Given the description of an element on the screen output the (x, y) to click on. 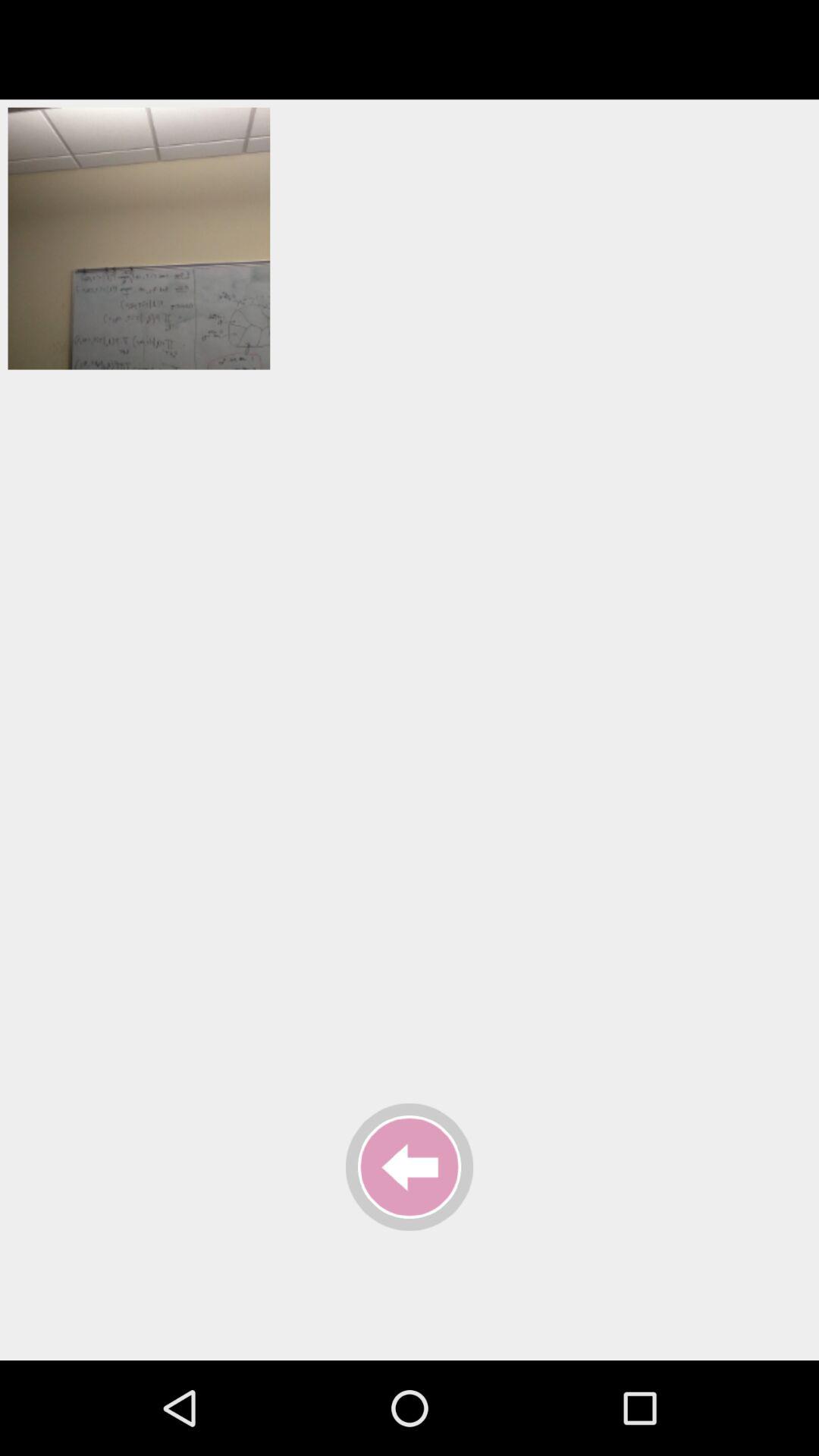
go back (409, 1166)
